Given the description of an element on the screen output the (x, y) to click on. 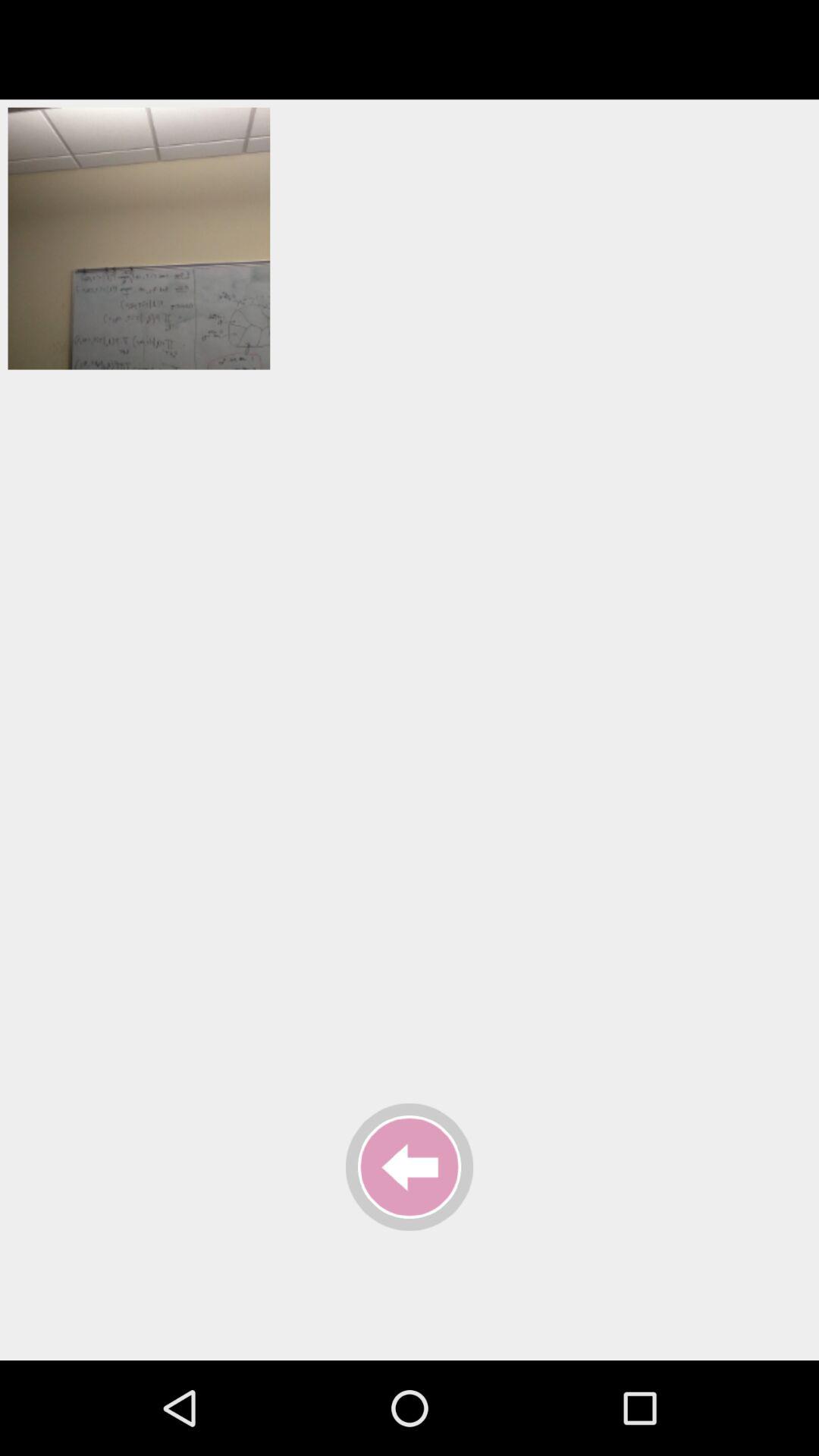
go back (409, 1166)
